Given the description of an element on the screen output the (x, y) to click on. 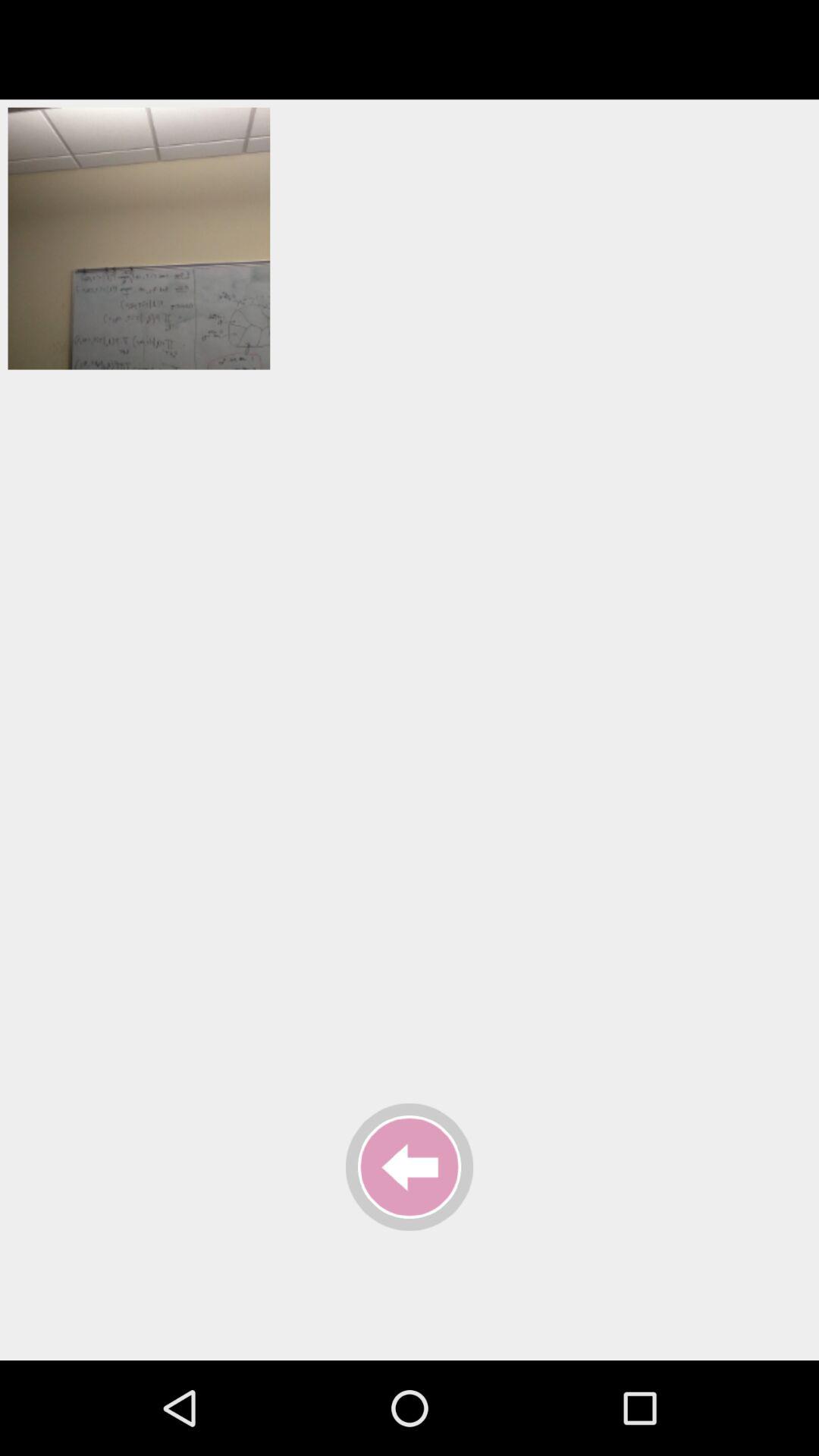
go back (409, 1166)
